Given the description of an element on the screen output the (x, y) to click on. 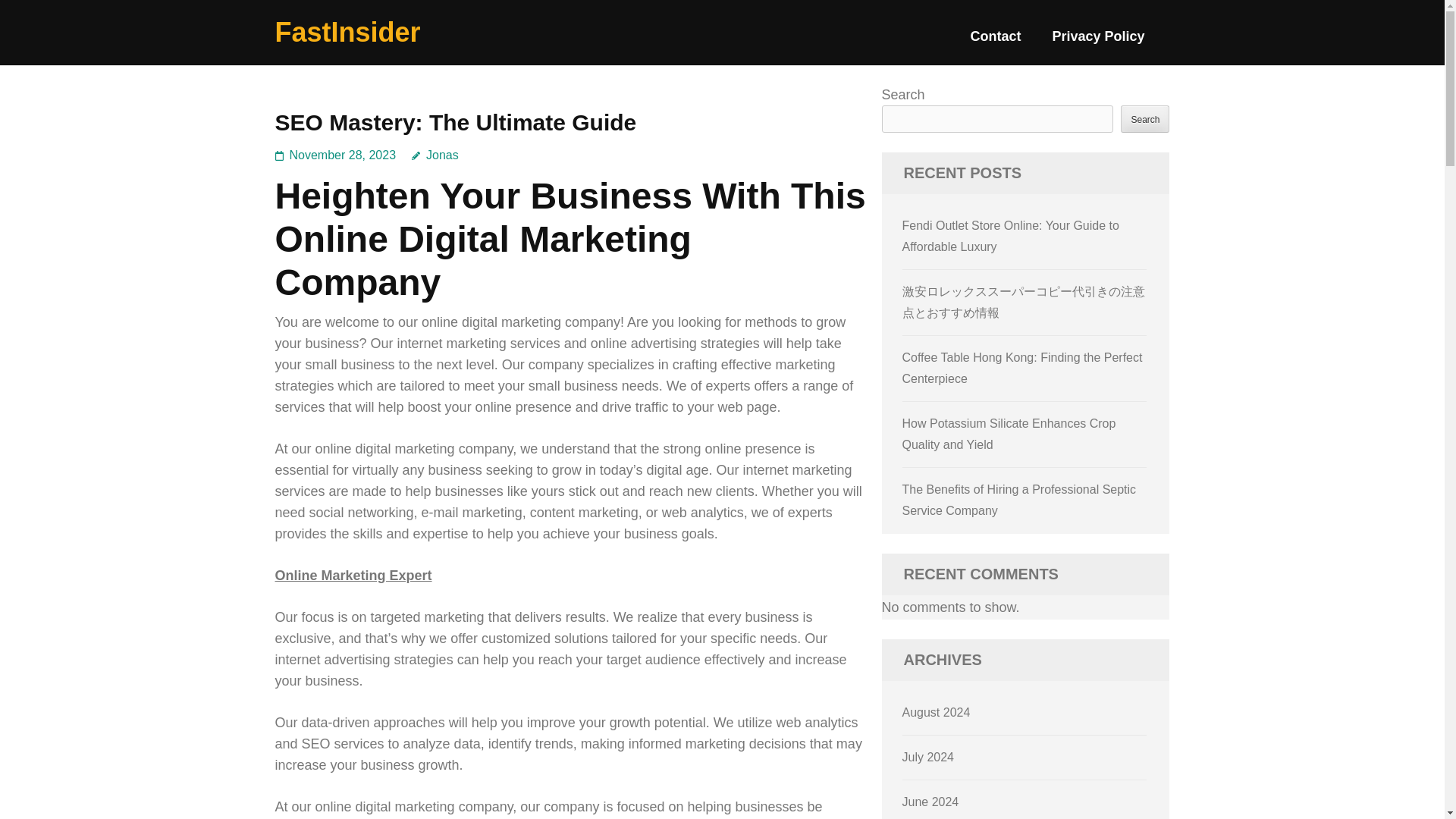
November 28, 2023 (342, 154)
June 2024 (930, 801)
Jonas (435, 154)
The Benefits of Hiring a Professional Septic Service Company (1019, 499)
Search (1145, 118)
July 2024 (928, 757)
How Potassium Silicate Enhances Crop Quality and Yield (1009, 433)
Fendi Outlet Store Online: Your Guide to Affordable Luxury (1010, 236)
FastInsider (347, 31)
Coffee Table Hong Kong: Finding the Perfect Centerpiece (1022, 367)
